Given the description of an element on the screen output the (x, y) to click on. 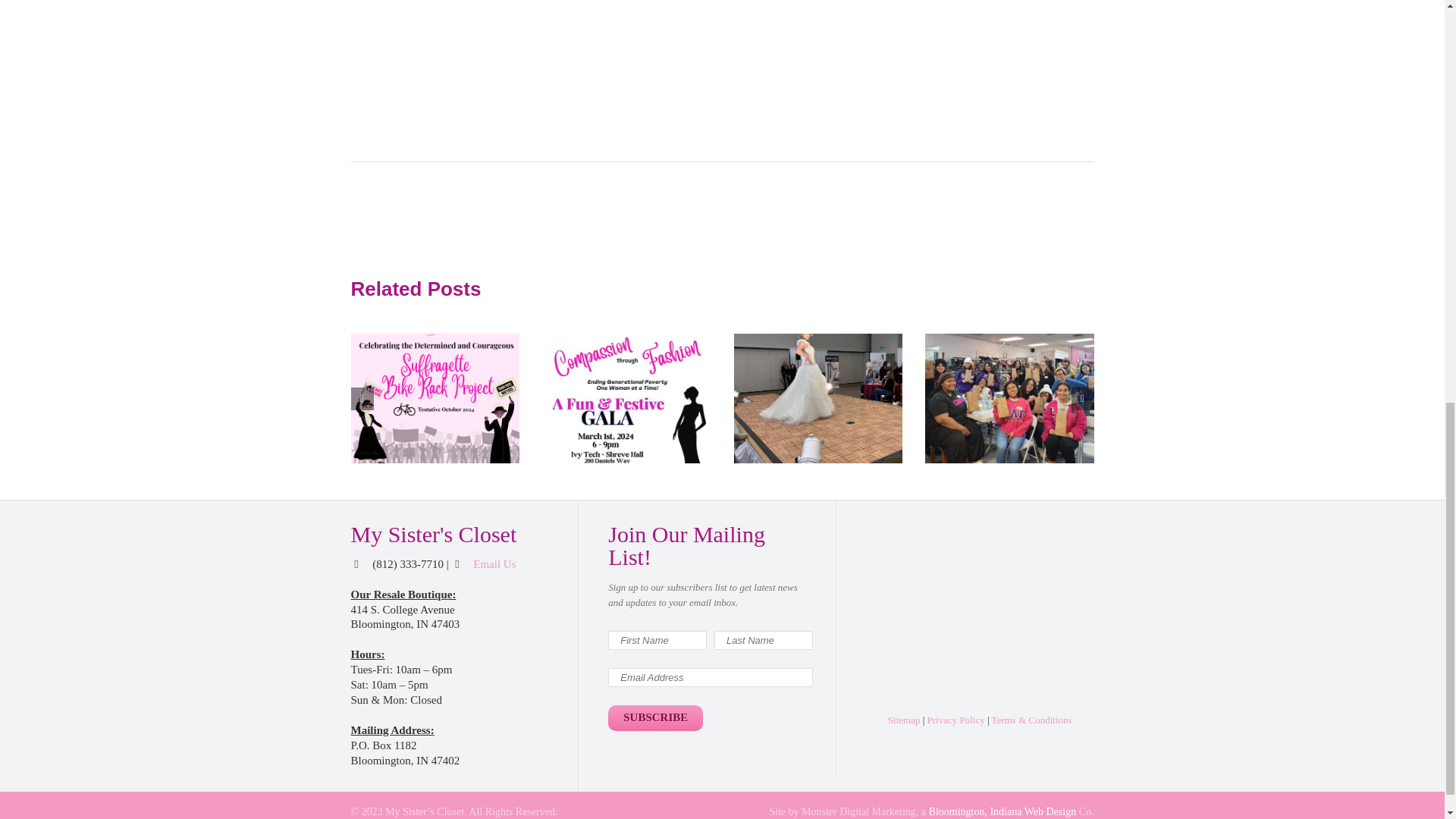
Subscribe (655, 718)
